Given the description of an element on the screen output the (x, y) to click on. 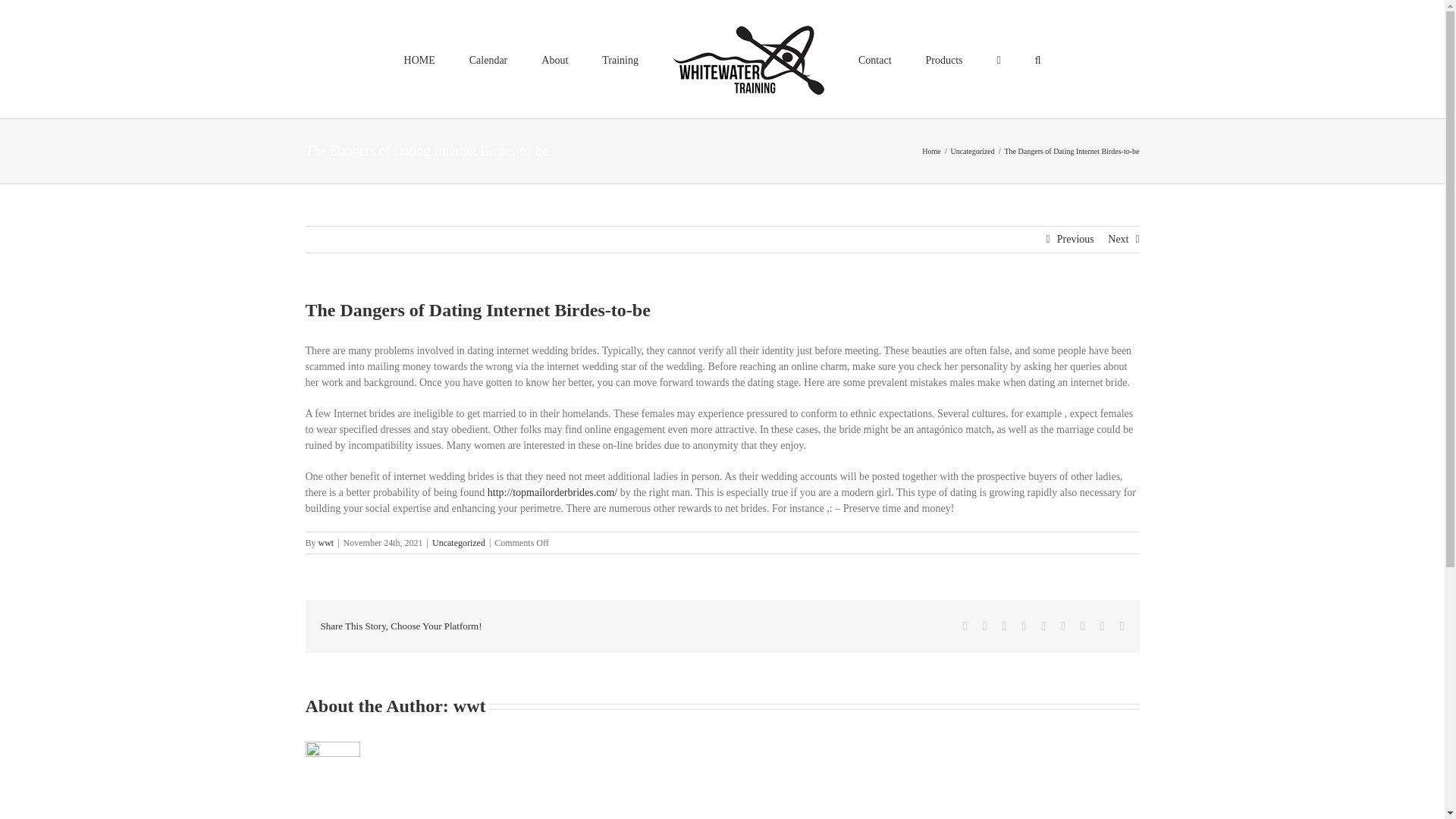
Posts by wwt (326, 542)
Posts by wwt (469, 705)
